Given the description of an element on the screen output the (x, y) to click on. 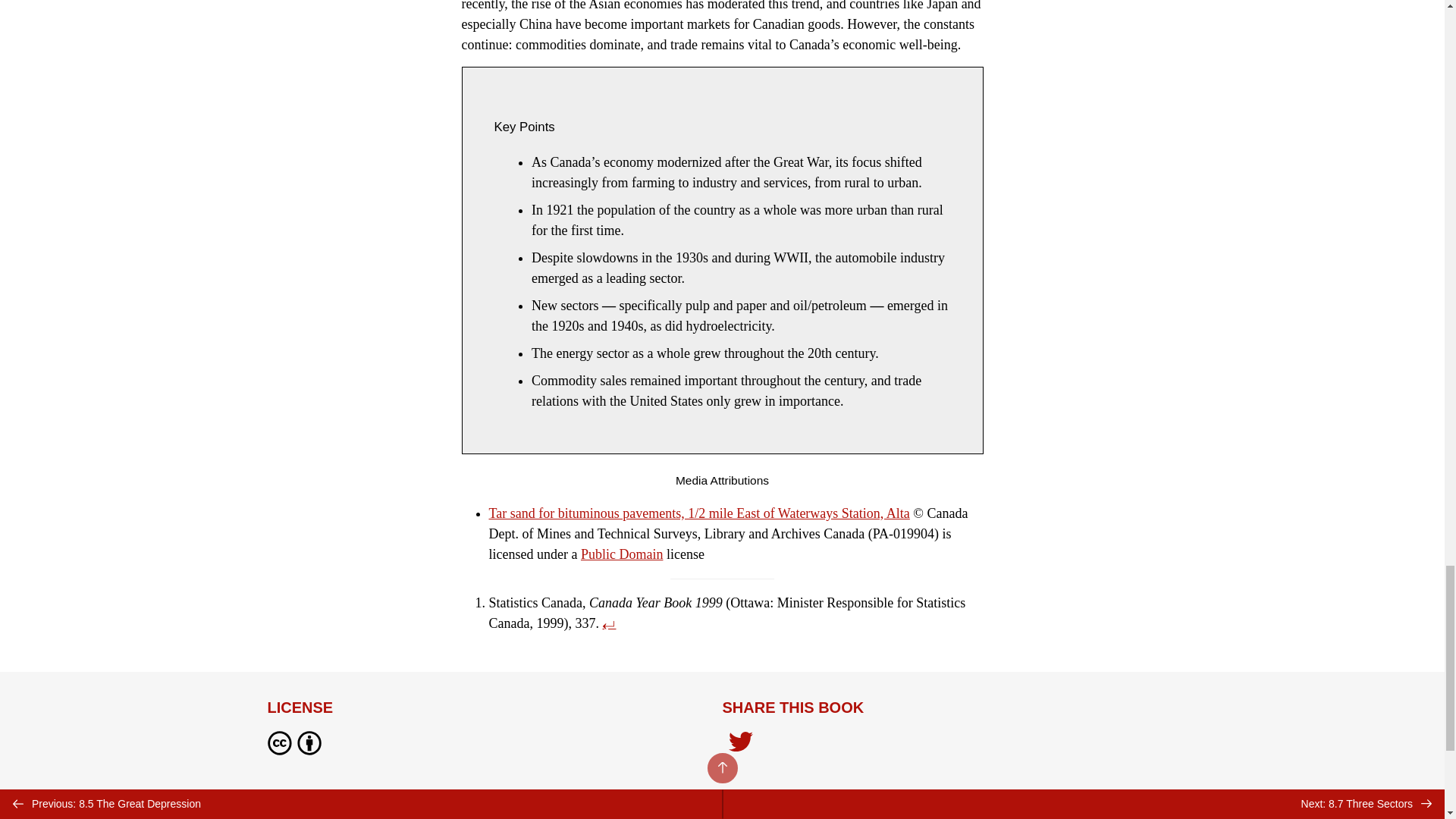
Public Domain (621, 554)
Share on Twitter (740, 745)
Canadian History: Post-Confederation (381, 797)
Share on Twitter (740, 743)
